Given the description of an element on the screen output the (x, y) to click on. 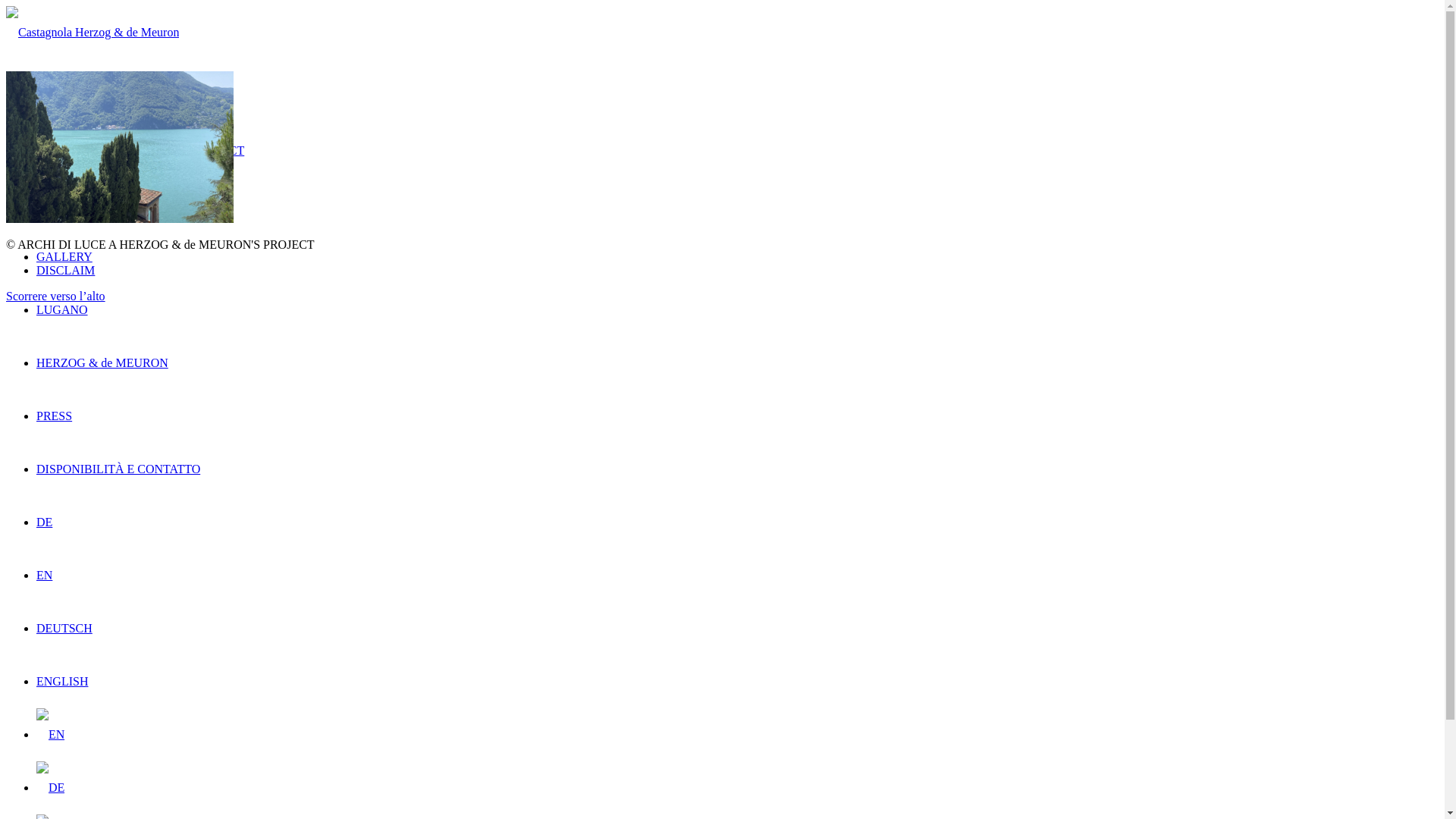
ENGLISH Element type: text (61, 680)
GALLERY Element type: text (64, 256)
DE Element type: text (44, 521)
DISCLAIM Element type: text (65, 269)
LUGANO Element type: text (61, 309)
PRESS Element type: text (54, 415)
HERZOG & de MEURON Element type: text (102, 362)
DE Element type: hover (50, 787)
DEUTSCH Element type: text (64, 627)
EN Element type: text (44, 574)
EN Element type: hover (50, 734)
CONCETTO Element type: text (68, 203)
